Given the description of an element on the screen output the (x, y) to click on. 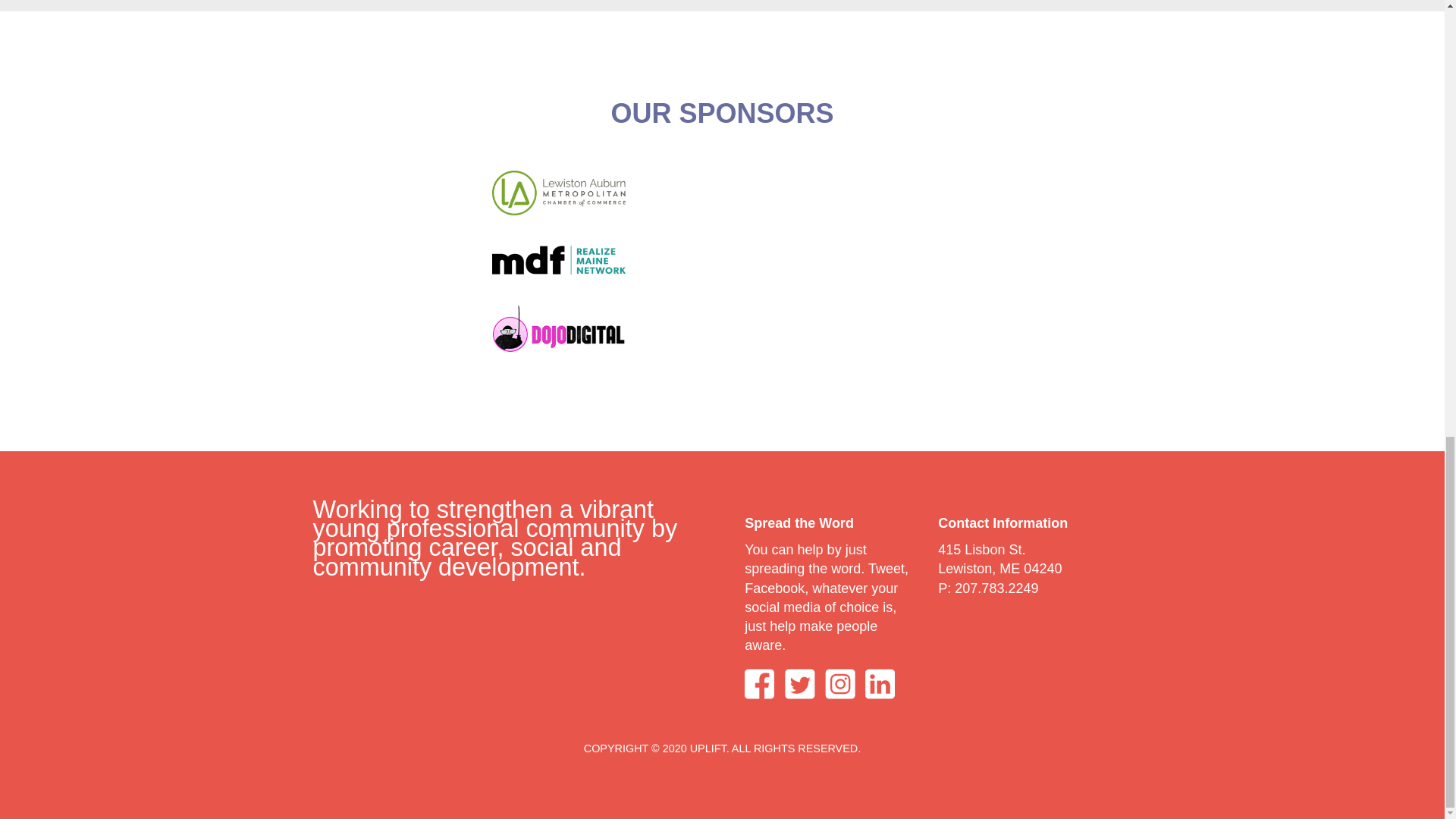
LA Metro Chamber (558, 192)
Twitter (802, 684)
Realize Maine Network (558, 260)
Instagram (840, 684)
Dojo Digital (558, 328)
Facebook (759, 684)
Linked-In (882, 684)
